Given the description of an element on the screen output the (x, y) to click on. 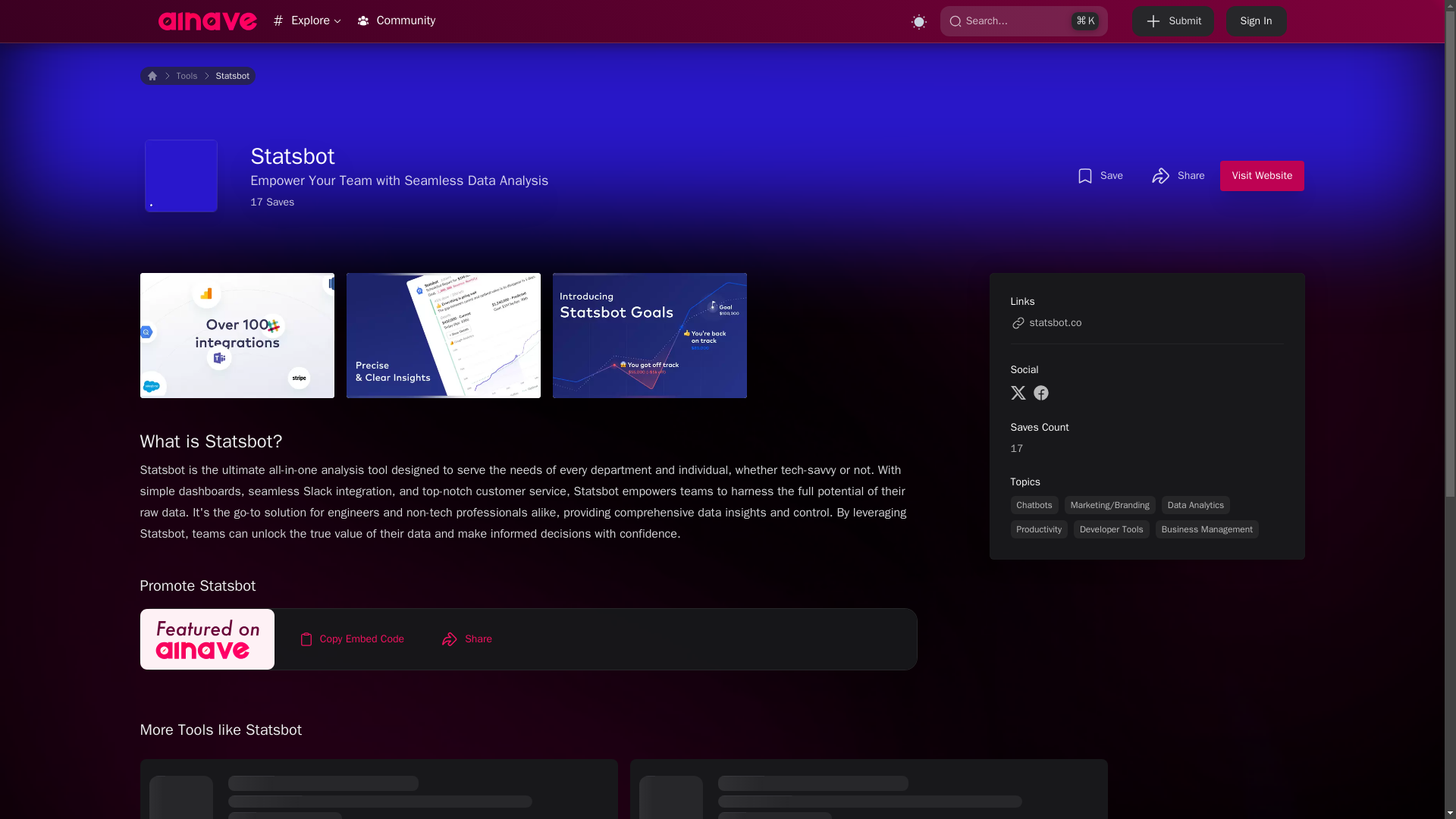
Tools (186, 75)
Copy Embed Code (351, 639)
Sign In (1255, 20)
Submit (1172, 20)
Developer Tools (1112, 529)
Save (1099, 175)
Productivity (1038, 529)
Share (1177, 175)
Share (465, 639)
Chatbots (1034, 505)
